Given the description of an element on the screen output the (x, y) to click on. 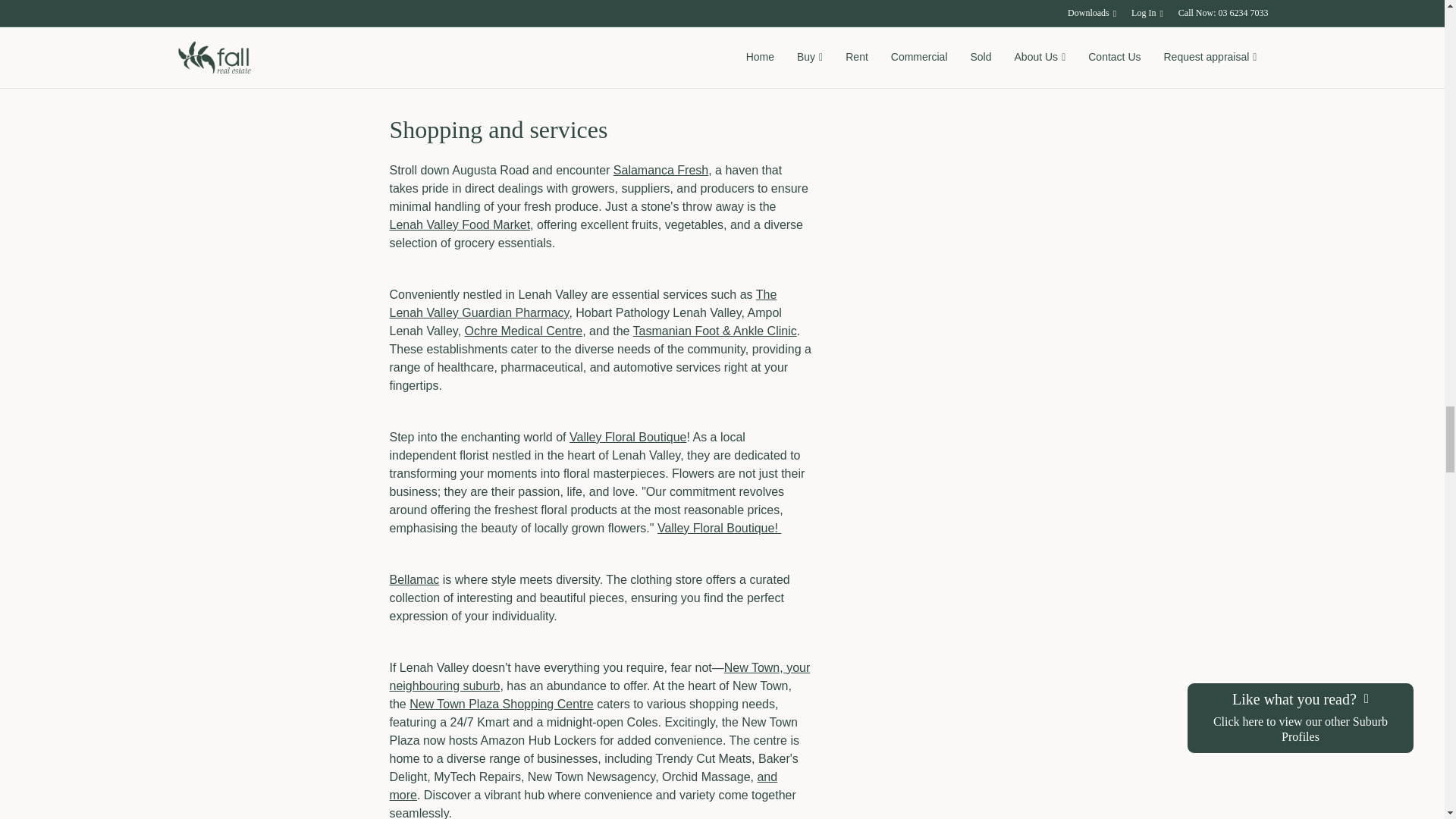
Salamanca Fresh in Lenah Valley Tasmania (600, 77)
